Given the description of an element on the screen output the (x, y) to click on. 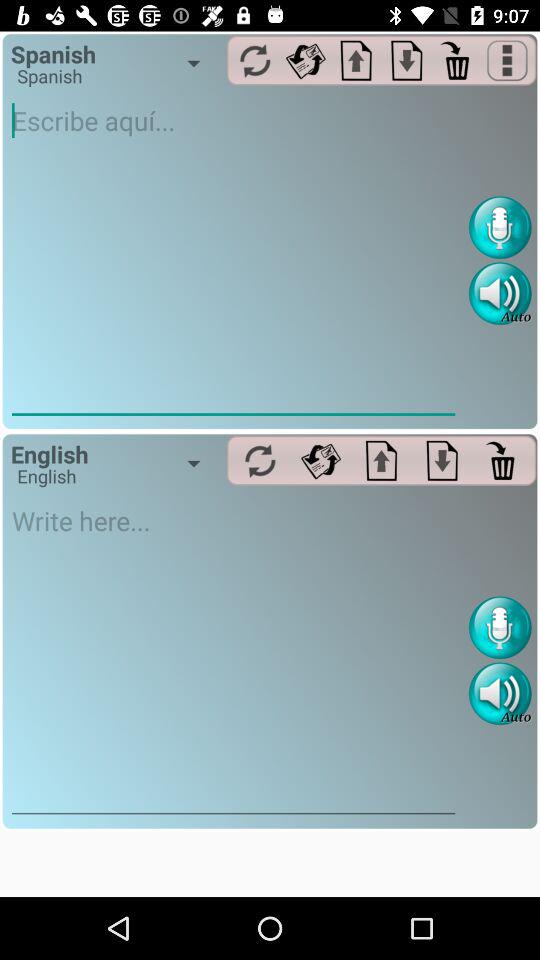
play sound (499, 693)
